Given the description of an element on the screen output the (x, y) to click on. 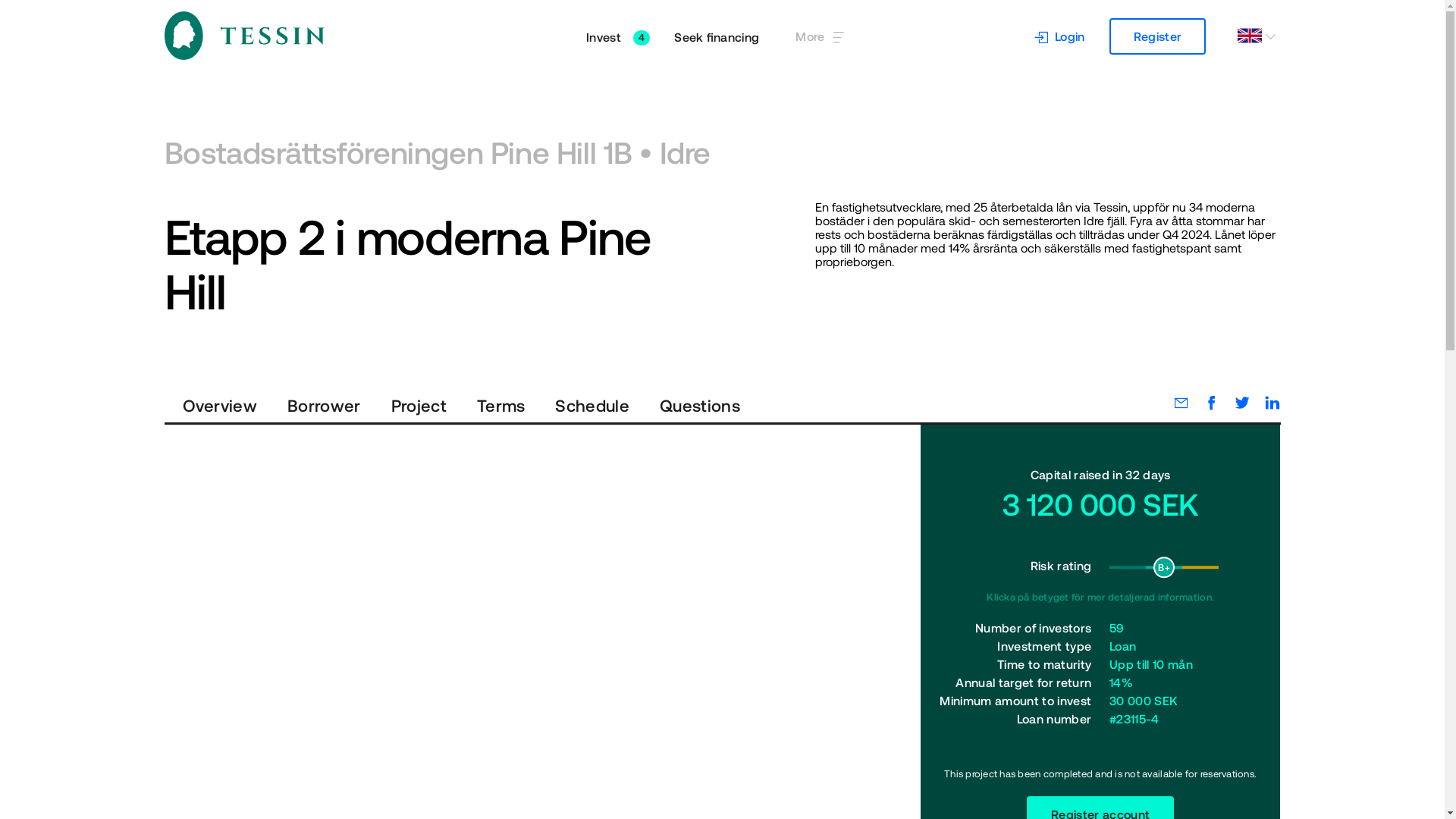
Schedule (589, 403)
Seek financing (617, 36)
Register account (716, 36)
Questions (1099, 807)
Register (697, 403)
Terms (1158, 36)
More (497, 403)
Project (821, 36)
Login (415, 403)
